Given the description of an element on the screen output the (x, y) to click on. 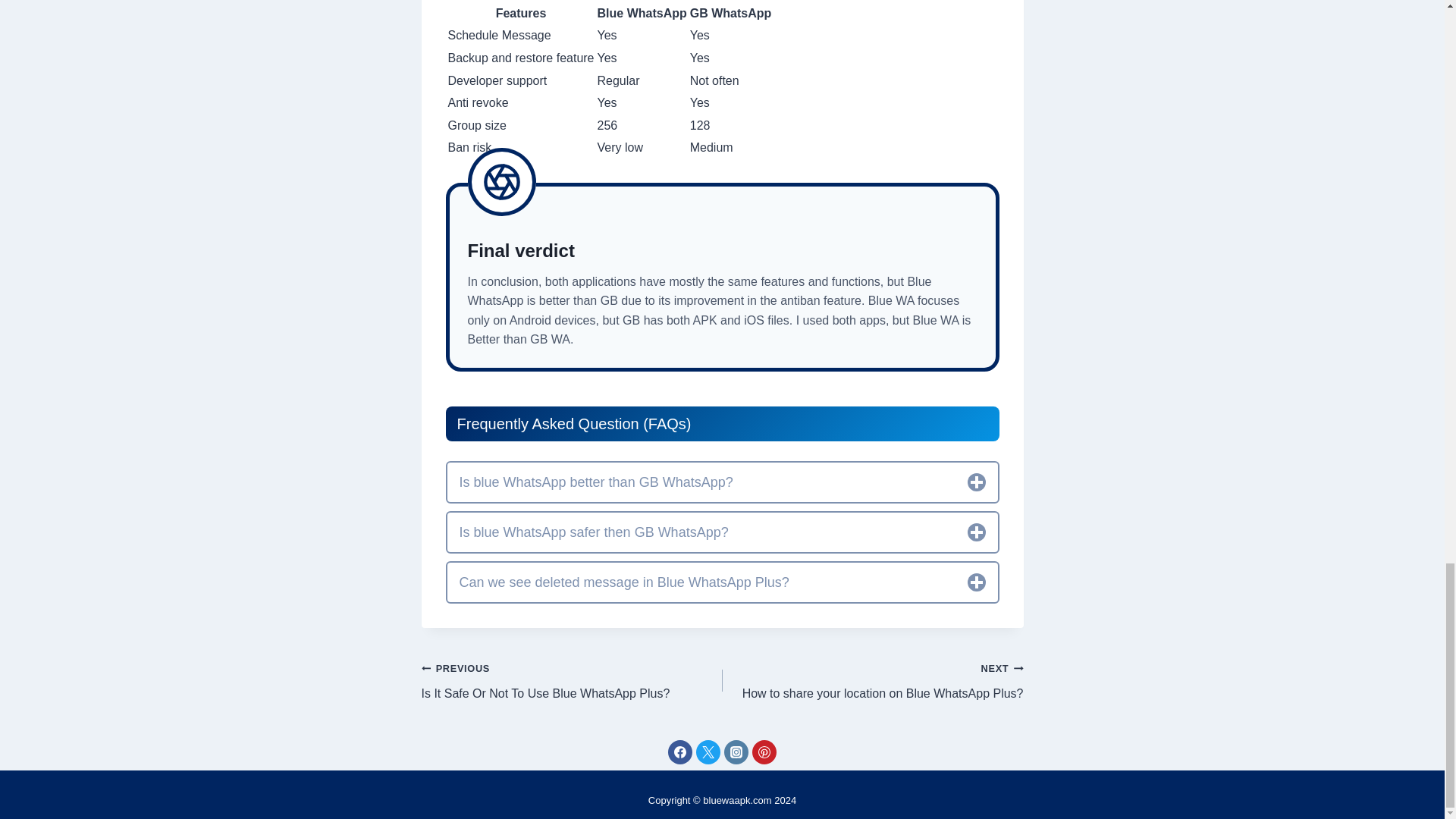
Is blue WhatsApp safer then GB WhatsApp? (721, 532)
Is blue WhatsApp better than GB WhatsApp? (572, 680)
Can we see deleted message in Blue WhatsApp Plus? (721, 482)
